Given the description of an element on the screen output the (x, y) to click on. 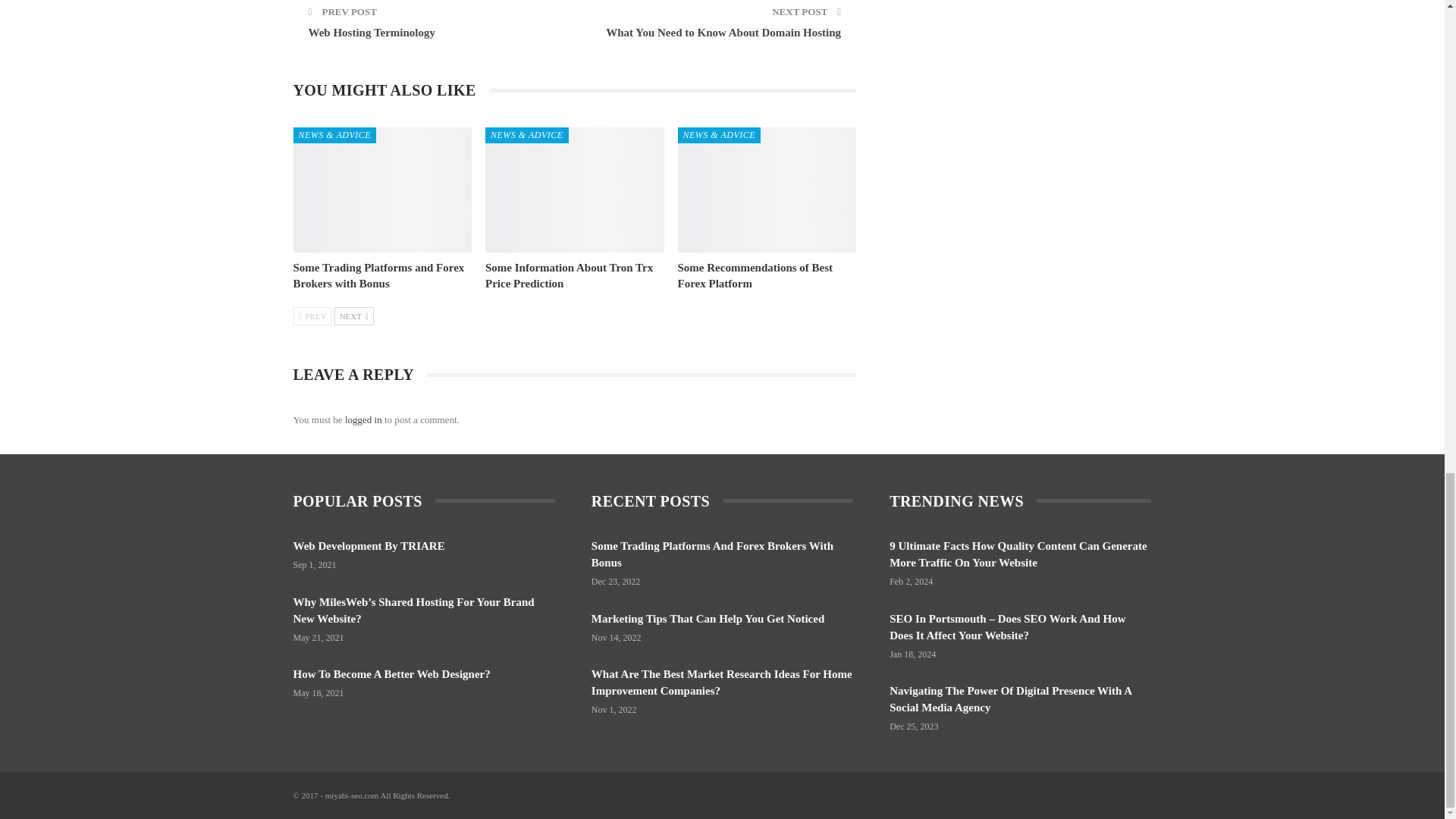
Some Trading Platforms and Forex Brokers with Bonus (378, 275)
Next (354, 316)
Web Hosting Terminology (371, 32)
YOU MIGHT ALSO LIKE (389, 91)
PREV (311, 316)
Some Trading Platforms and Forex Brokers with Bonus (378, 275)
Some Recommendations of Best Forex Platform (767, 189)
Previous (311, 316)
Some Information About Tron Trx Price Prediction (568, 275)
Some Information About Tron Trx Price Prediction (573, 189)
Some Recommendations of Best Forex Platform (755, 275)
Some Trading Platforms and Forex Brokers with Bonus (381, 189)
Some Recommendations of Best Forex Platform (755, 275)
Some Information About Tron Trx Price Prediction (568, 275)
What You Need to Know About Domain Hosting (723, 32)
